Given the description of an element on the screen output the (x, y) to click on. 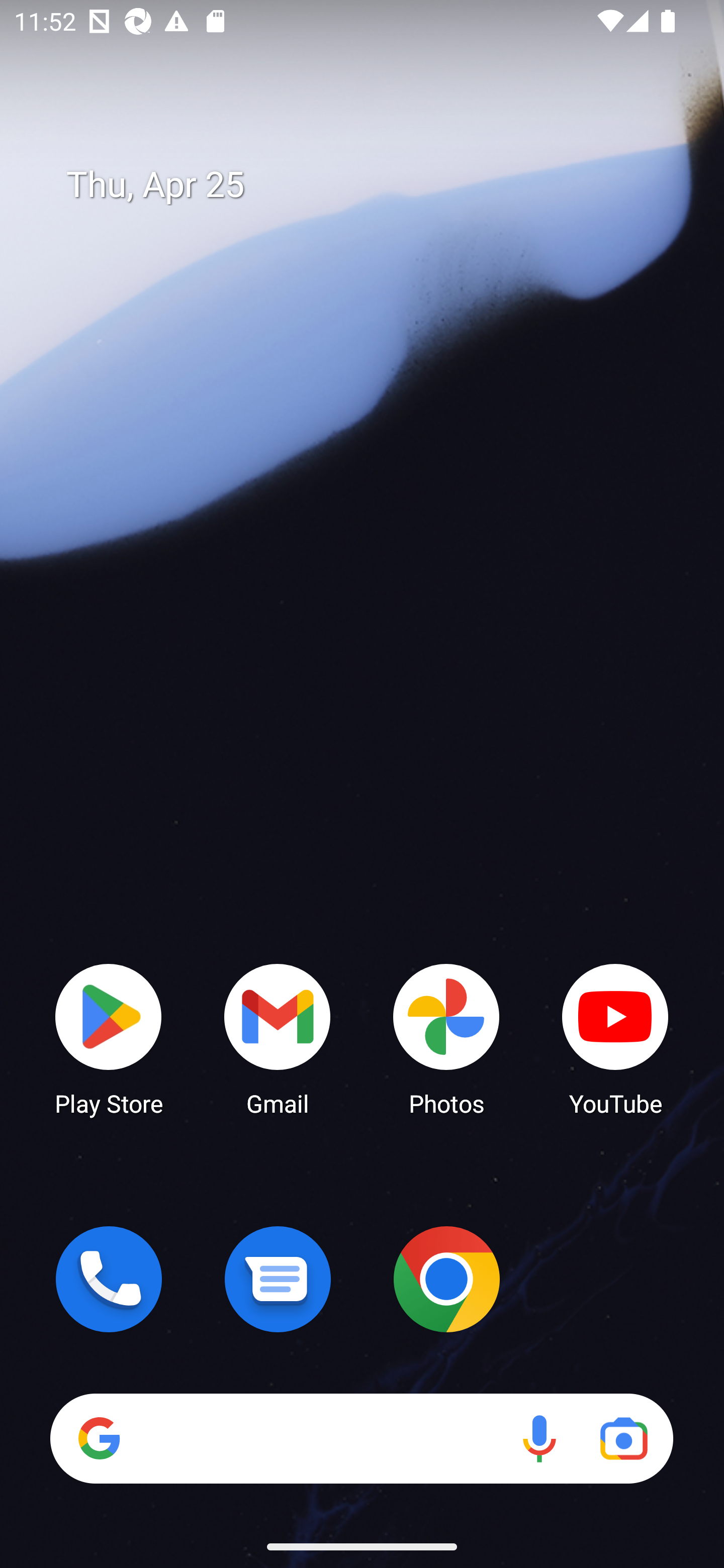
Thu, Apr 25 (375, 184)
Play Store (108, 1038)
Gmail (277, 1038)
Photos (445, 1038)
YouTube (615, 1038)
Phone (108, 1279)
Messages (277, 1279)
Chrome (446, 1279)
Search Voice search Google Lens (361, 1438)
Voice search (539, 1438)
Google Lens (623, 1438)
